Given the description of an element on the screen output the (x, y) to click on. 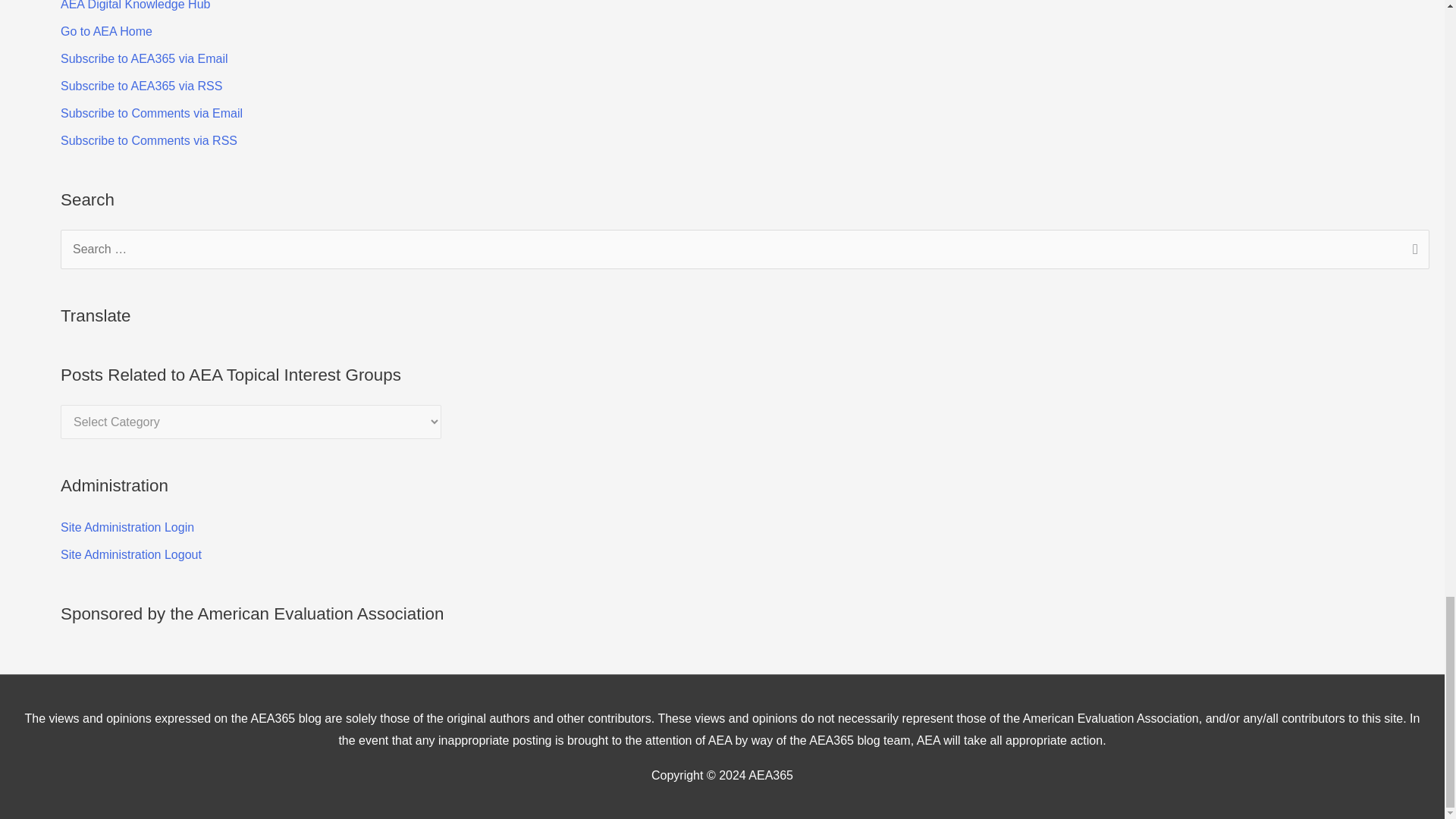
Go to AEA Home (106, 31)
Subscribe to AEA365 via Email (144, 58)
Subscribe to Comments via Email (152, 113)
Subscribe to aea365 via RSS feed (141, 85)
Site Administration Logout (131, 554)
Site Administration Login (127, 526)
American Evaluation Association Homepage (106, 31)
Subscribe to Comments via RSS (149, 140)
AEA Digital Knowledge Hub (135, 5)
Receive aea365 daily via email subscription (144, 58)
Subscribe to AEA365 via RSS (141, 85)
